Given the description of an element on the screen output the (x, y) to click on. 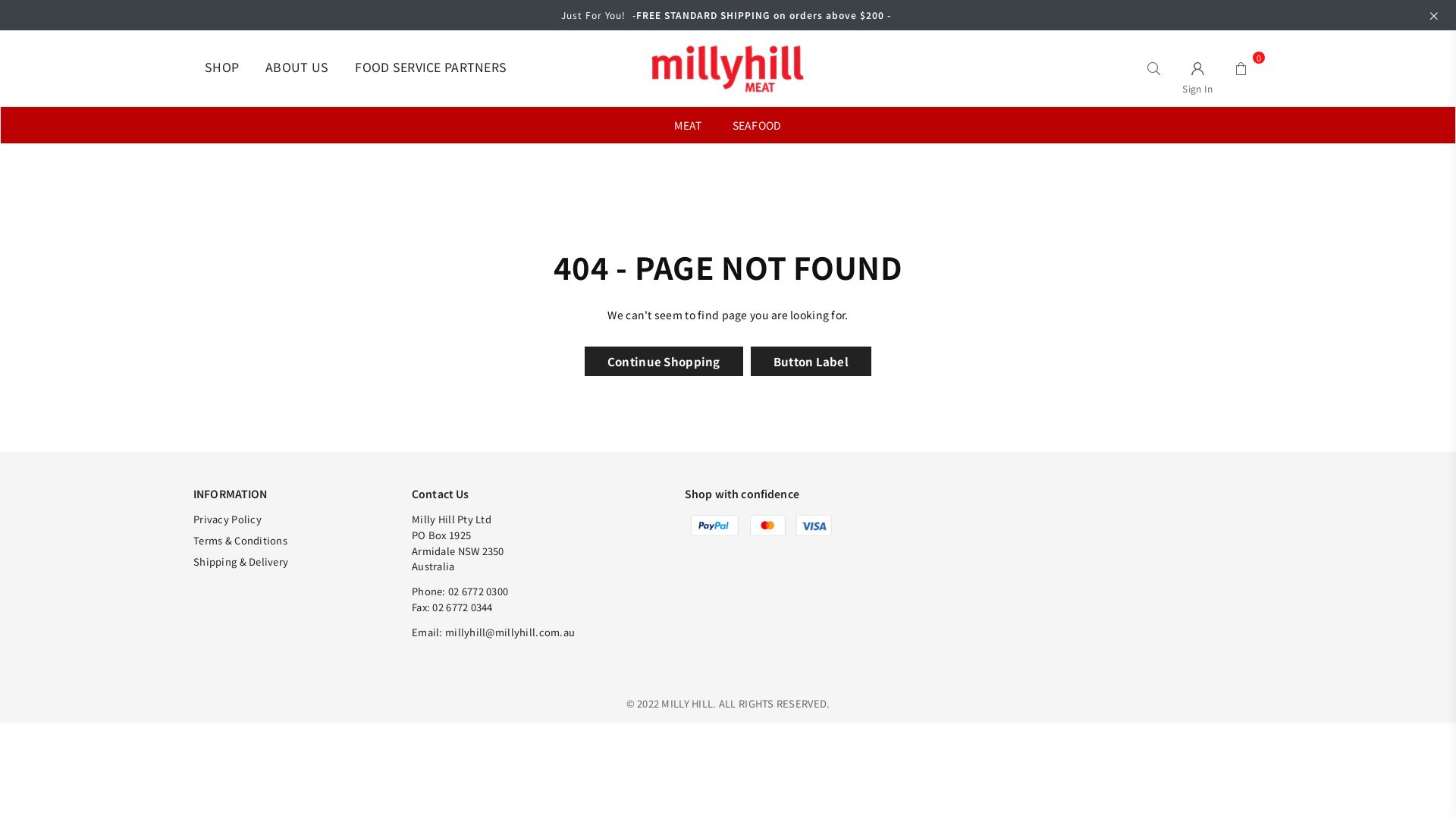
Button Label Element type: text (810, 361)
FOOD SERVICE PARTNERS Element type: text (430, 68)
Privacy Policy Element type: text (227, 518)
Continue Shopping Element type: text (663, 361)
Shipping & Delivery Element type: text (240, 561)
Search Element type: hover (1153, 68)
0 Element type: text (1240, 68)
SHOP Element type: text (221, 68)
MILLY HILL STORE Element type: text (727, 67)
SEAFOOD Element type: text (756, 124)
Email: millyhill@millyhill.com.au Element type: text (492, 631)
Sign In Element type: text (1197, 68)
ABOUT US Element type: text (296, 68)
MEAT Element type: text (687, 124)
Phone: 02 6772 0300
Fax: 02 6772 0344 Element type: text (459, 598)
Terms & Conditions Element type: text (240, 540)
